Given the description of an element on the screen output the (x, y) to click on. 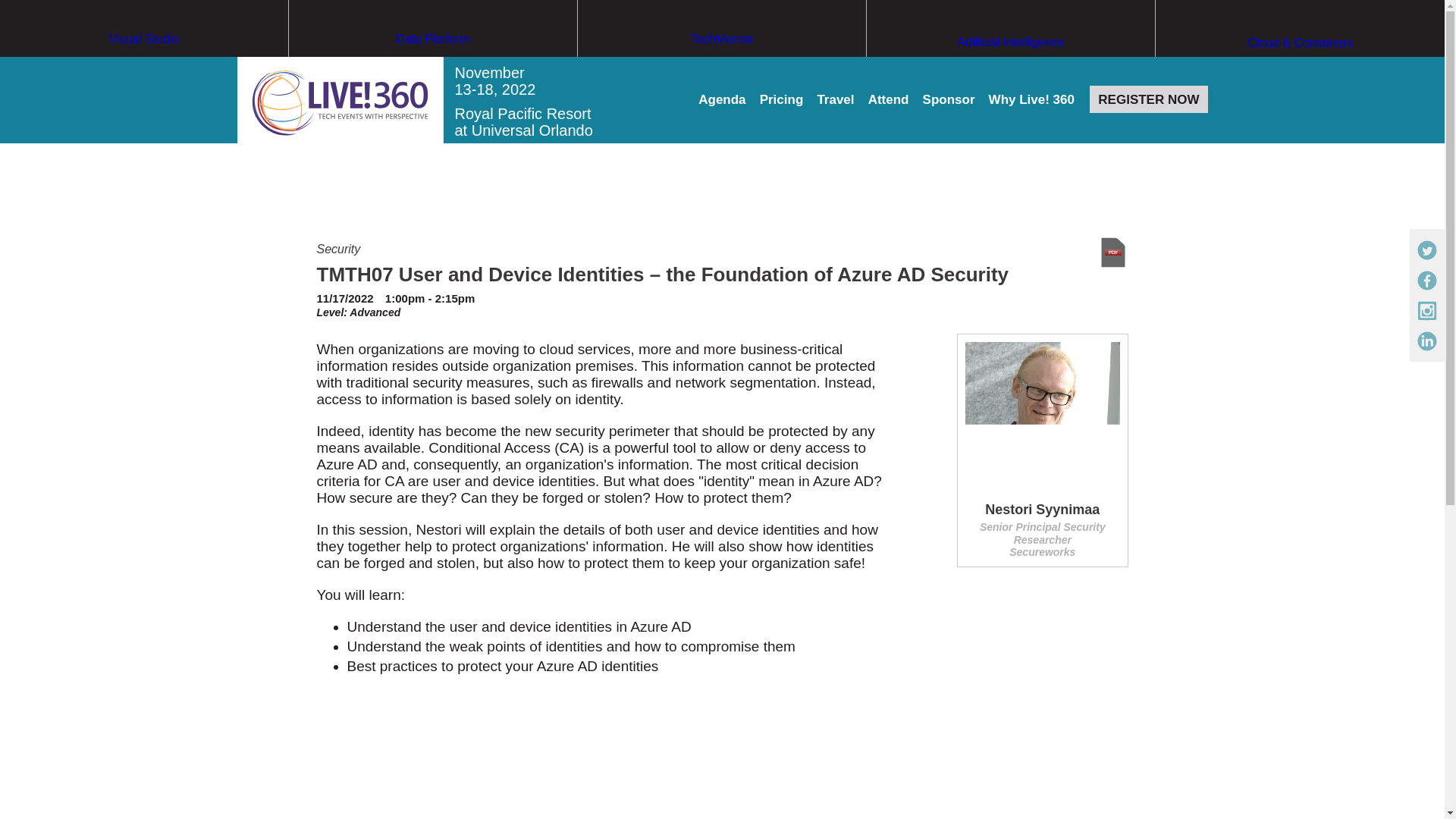
Attend (887, 99)
Travel (834, 99)
Sponsor (949, 99)
TechMentor (722, 67)
Artificial Intelligence (1010, 70)
Data Platform (432, 67)
Agenda (721, 99)
Visual Studio (144, 67)
Pricing (781, 99)
